Given the description of an element on the screen output the (x, y) to click on. 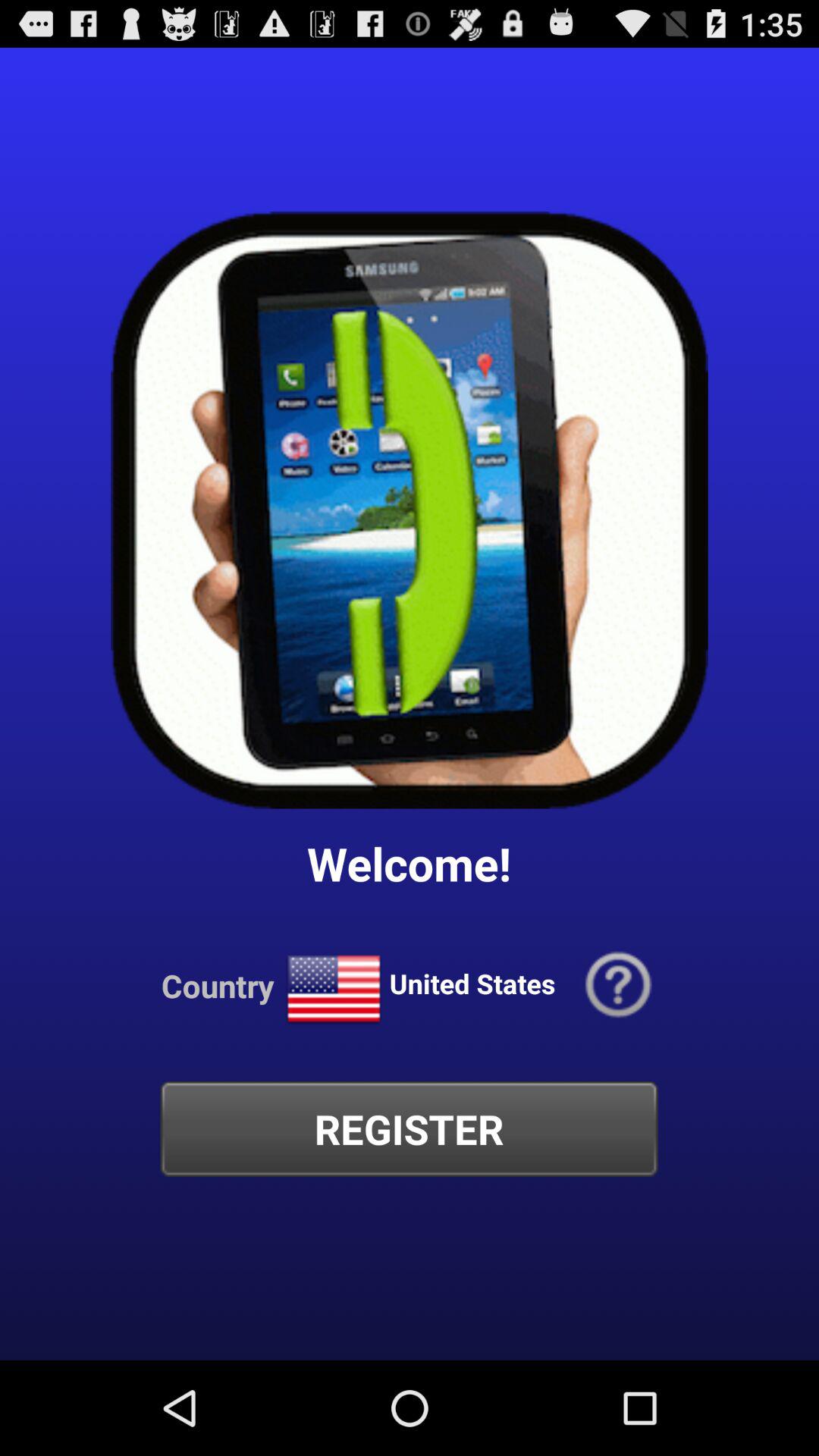
turn on the app to the left of united states item (333, 989)
